Given the description of an element on the screen output the (x, y) to click on. 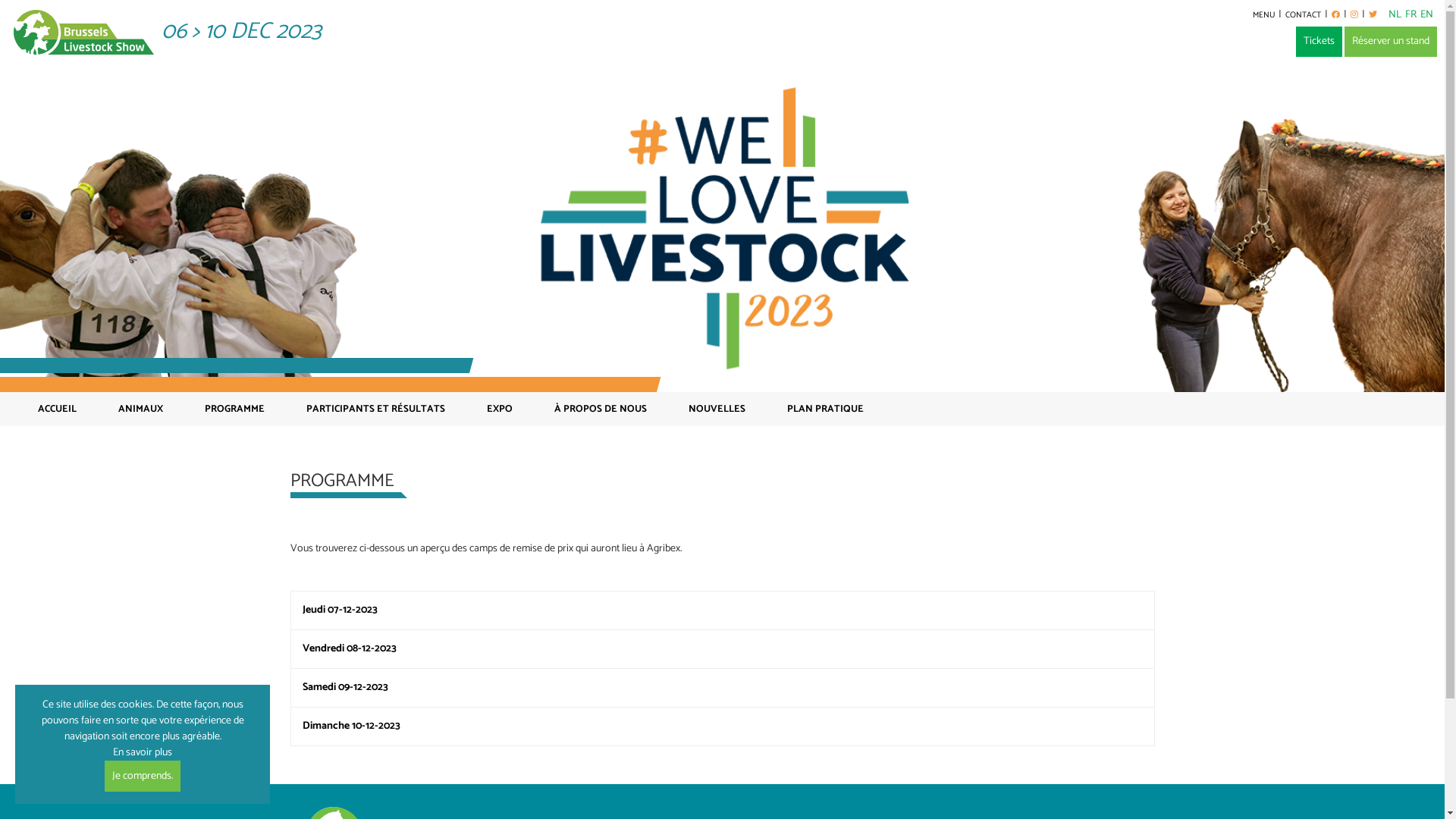
PROGRAMME Element type: text (234, 409)
PLAN PRATIQUE Element type: text (824, 409)
ACCUEIL Element type: text (56, 409)
ANIMAUX Element type: text (140, 409)
EXPO Element type: text (499, 409)
CONTACT Element type: text (1303, 14)
MENU Element type: text (1263, 14)
06 > 10 DEC 2023 Element type: text (166, 31)
En savoir plus Element type: text (166, 760)
EN Element type: text (1426, 14)
Je comprends. Element type: text (142, 775)
FR Element type: text (1410, 14)
NL Element type: text (1394, 14)
Tickets Element type: text (1318, 41)
NOUVELLES Element type: text (716, 409)
